Given the description of an element on the screen output the (x, y) to click on. 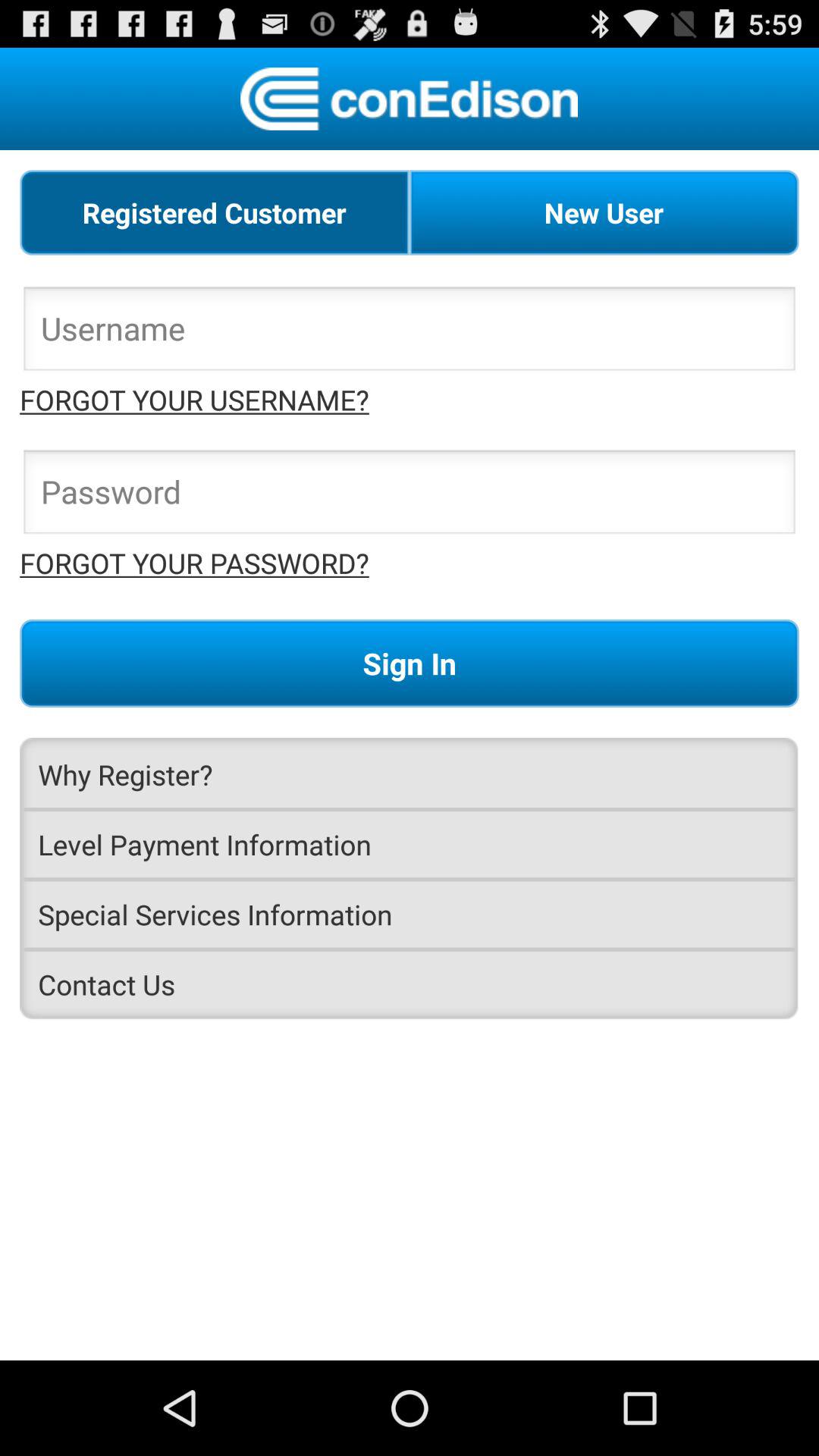
press item below the sign in item (409, 774)
